Given the description of an element on the screen output the (x, y) to click on. 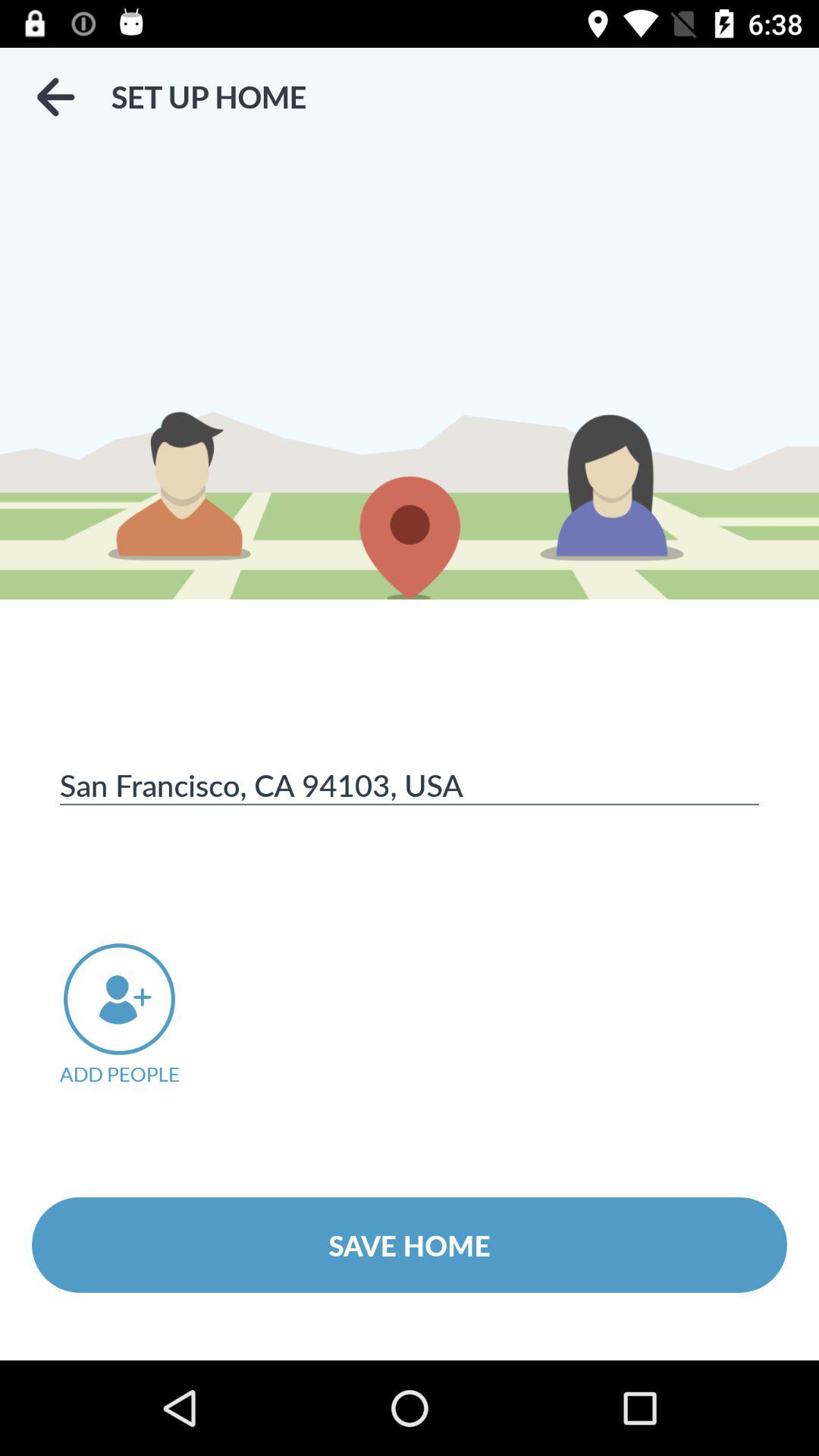
jump until the san francisco ca (409, 784)
